Given the description of an element on the screen output the (x, y) to click on. 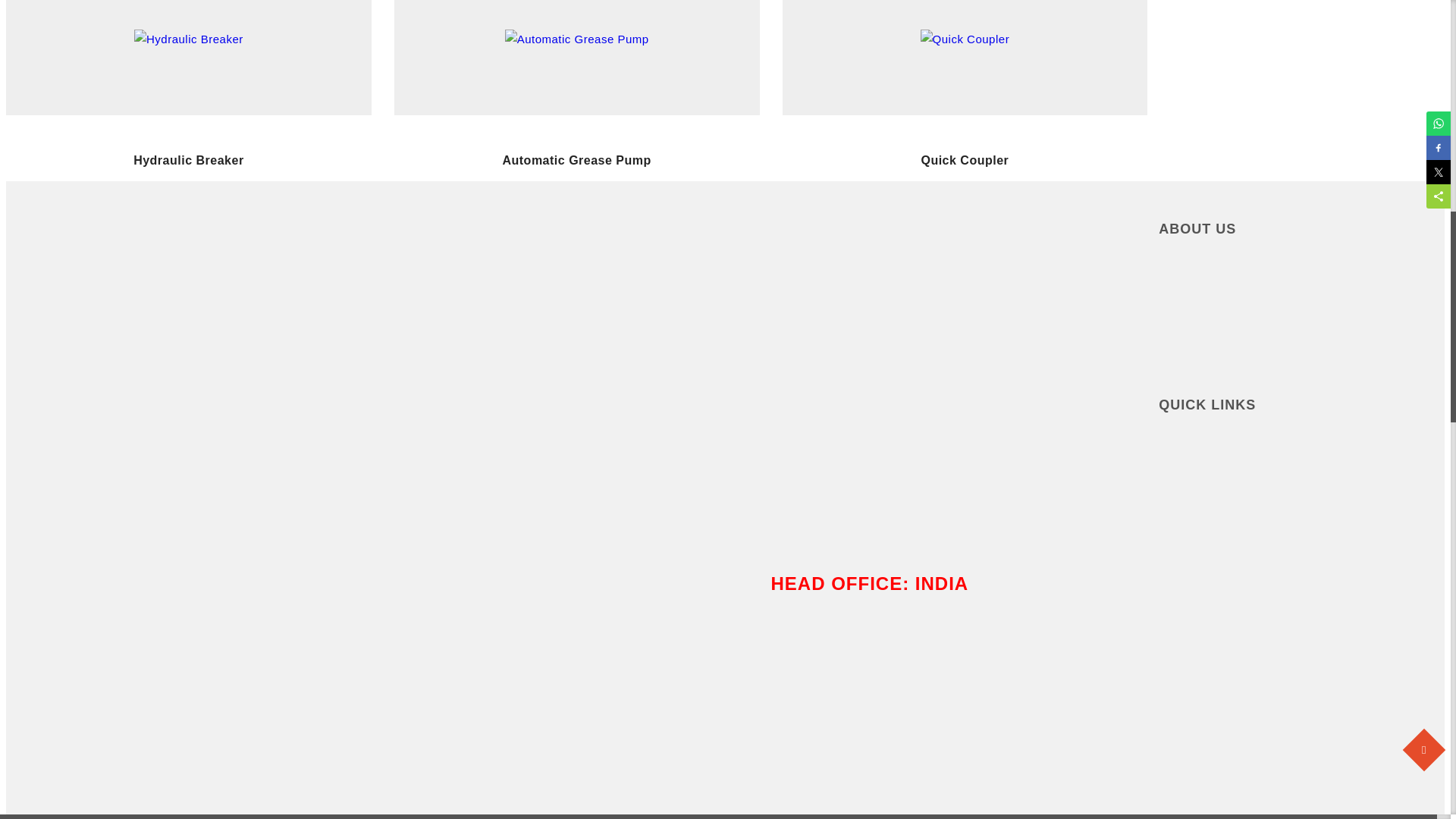
Quick Coupler (965, 103)
Hydraulic Earth Drill (577, 350)
Hydraulic Pile Driver (965, 350)
Photo Gallery (1301, 545)
Quick Coupler (965, 38)
Contact Us (1301, 492)
Hydraulic Breaker (188, 38)
Automatic Grease Pump (577, 38)
Excavator Ripper (188, 350)
Hydraulic Breaker (188, 103)
Hydraulic Pile Driver (964, 303)
Excavator Ripper (188, 303)
Hydraulic Shear (576, 569)
Log Stone etc. Grab (188, 569)
Home (1301, 438)
